Given the description of an element on the screen output the (x, y) to click on. 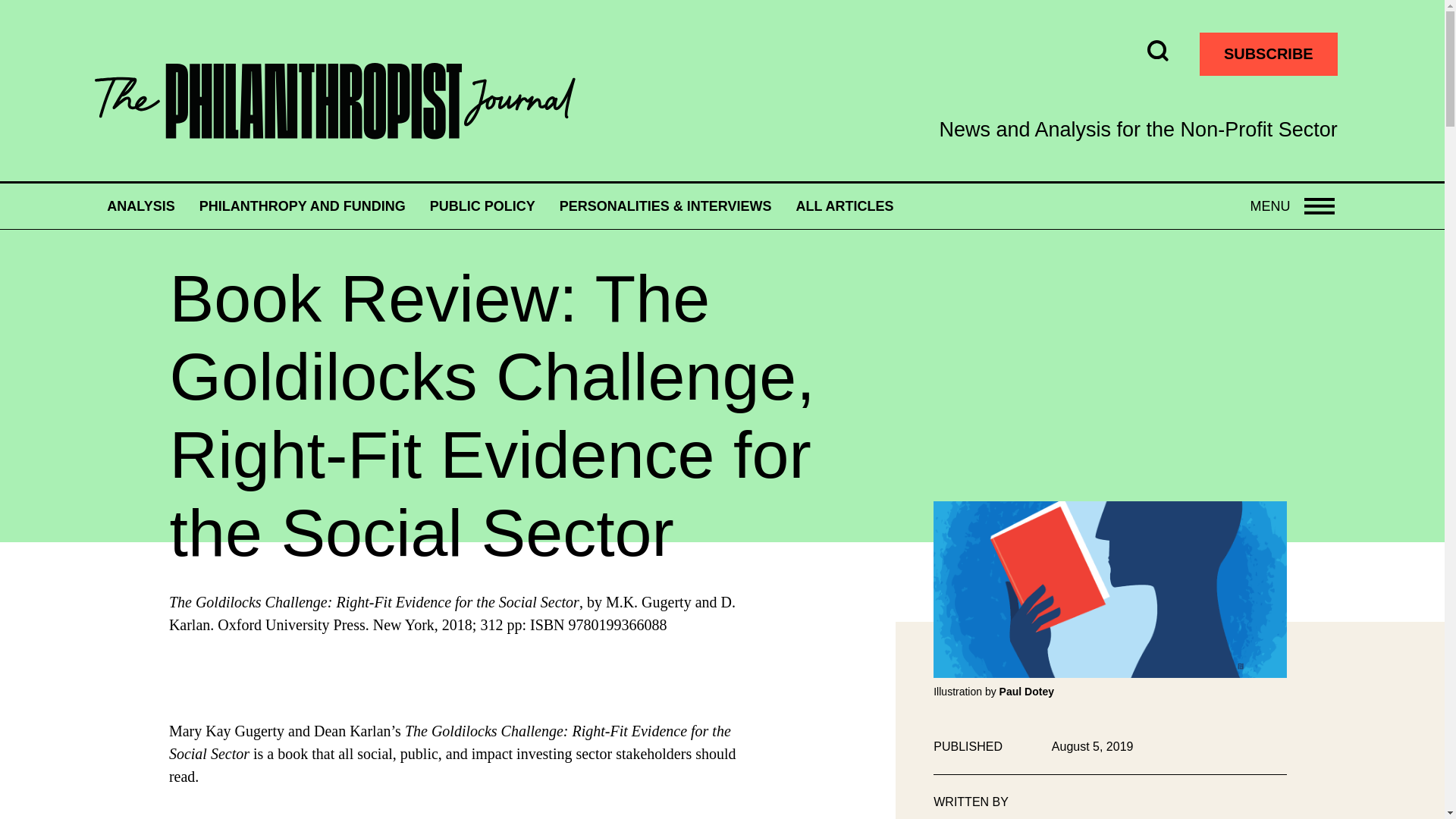
The Philanthropist Journal (334, 102)
PUBLIC POLICY (1292, 205)
ANALYSIS (482, 205)
SUBSCRIBE (140, 205)
PHILANTHROPY AND FUNDING (1268, 54)
ALL ARTICLES (302, 205)
